Given the description of an element on the screen output the (x, y) to click on. 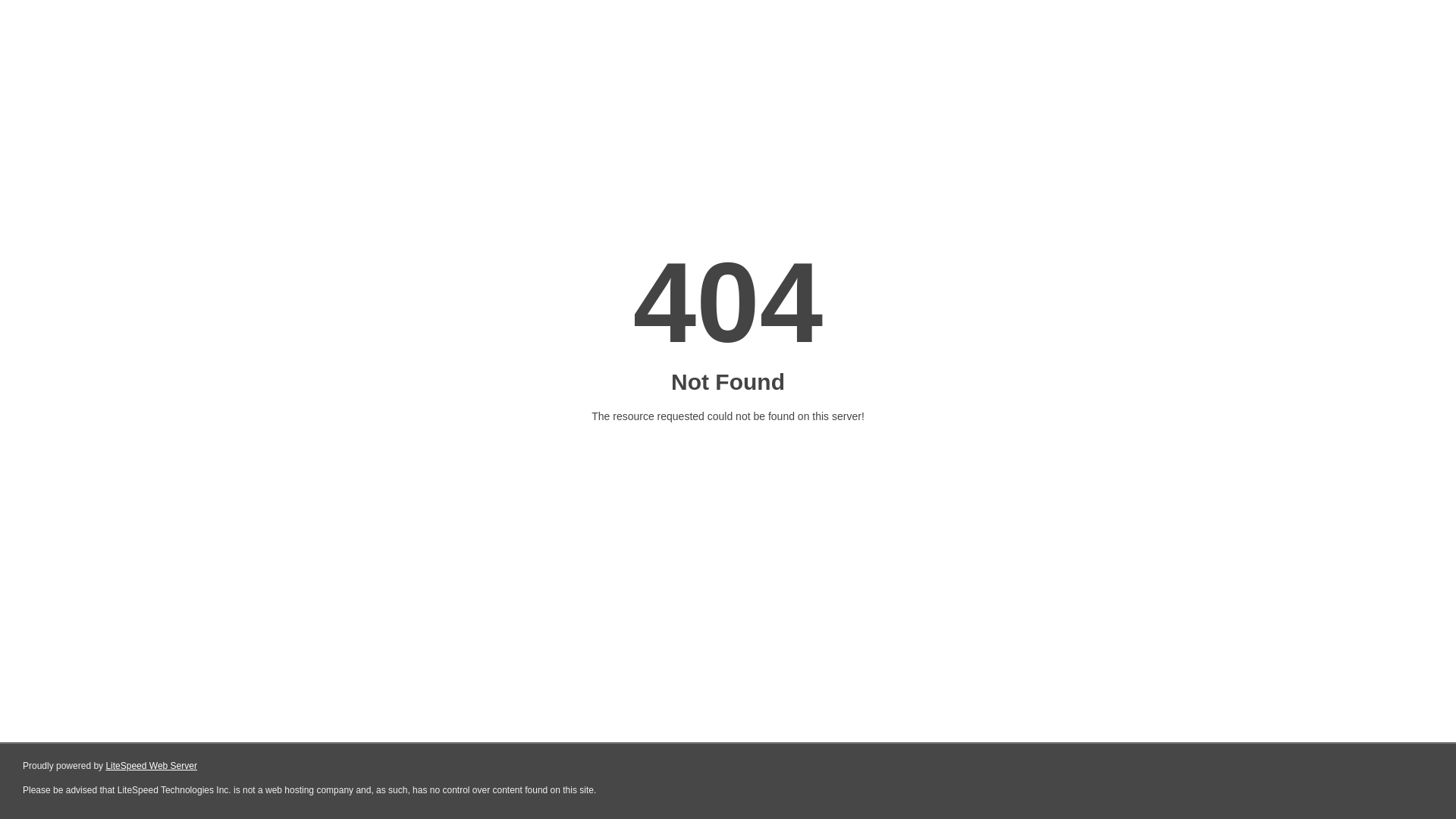
LiteSpeed Web Server Element type: text (151, 765)
